Given the description of an element on the screen output the (x, y) to click on. 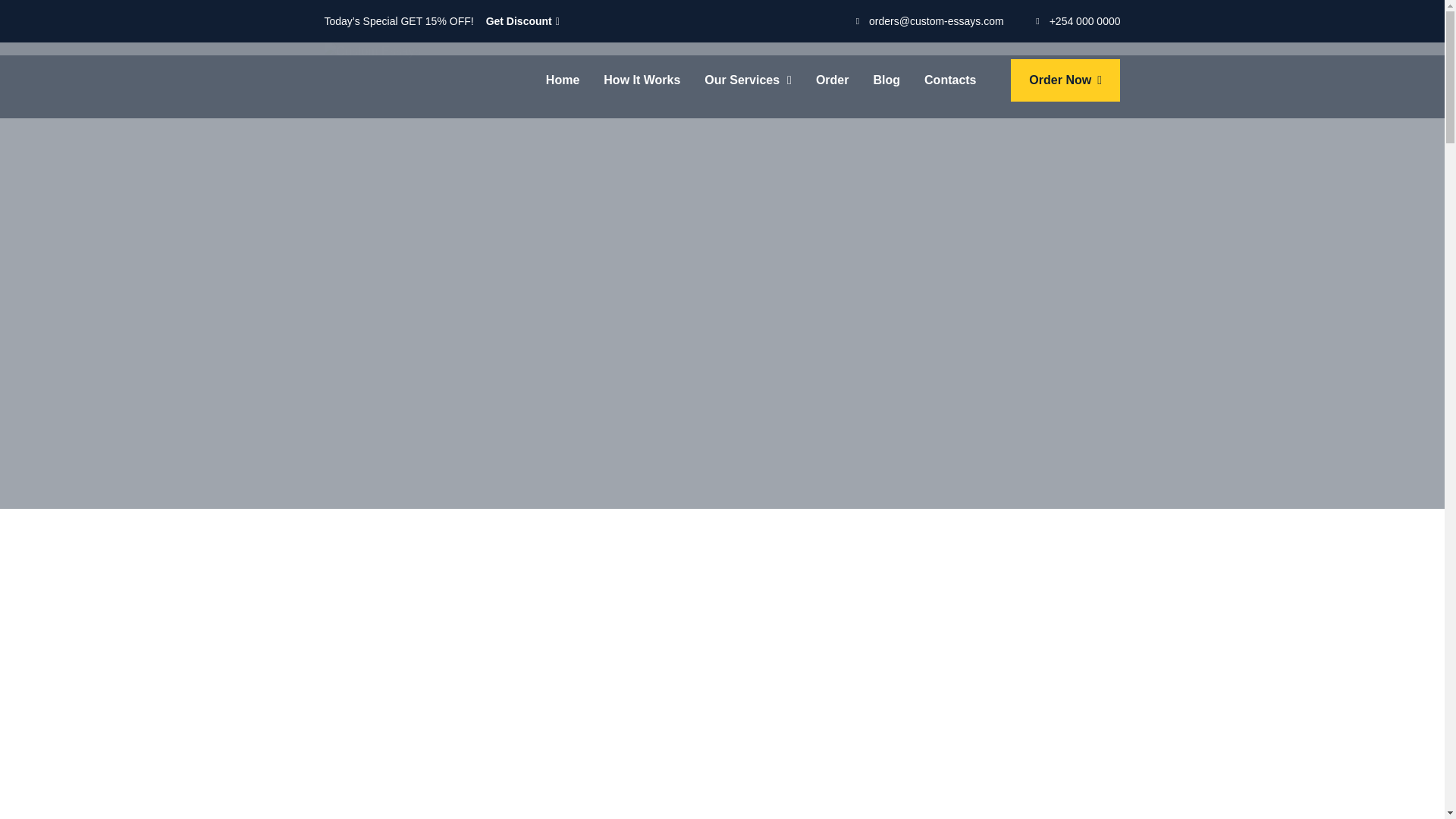
Get Discount (522, 21)
How It Works (641, 80)
Our Services (748, 80)
